Given the description of an element on the screen output the (x, y) to click on. 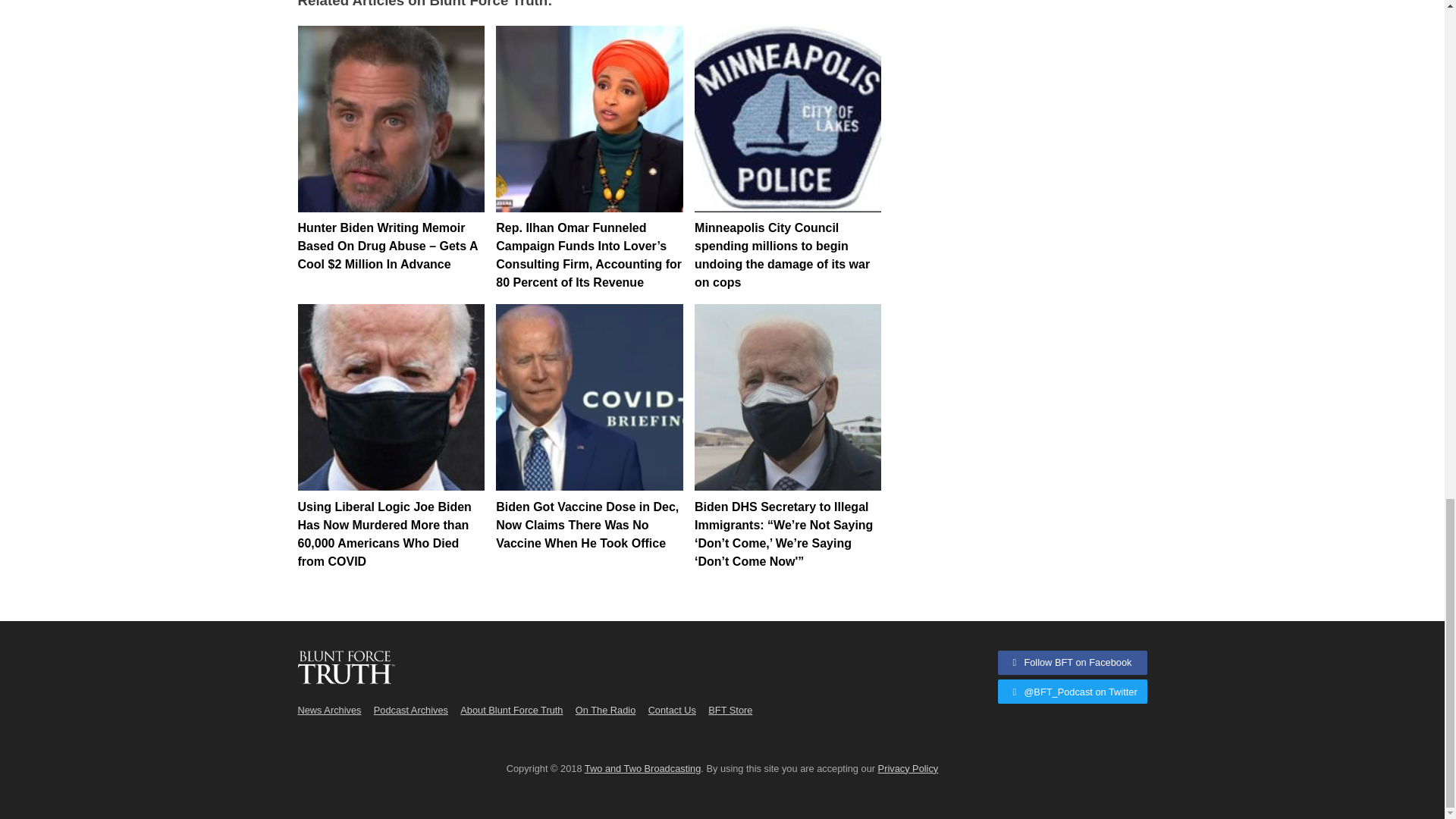
About Blunt Force Truth (511, 709)
Two and Two Broadcasting (642, 767)
BFT Store (729, 709)
Podcast Archives (411, 709)
News Archives (329, 709)
Follow BFT on Facebook (1072, 662)
On The Radio (604, 709)
Privacy Policy (908, 767)
